Given the description of an element on the screen output the (x, y) to click on. 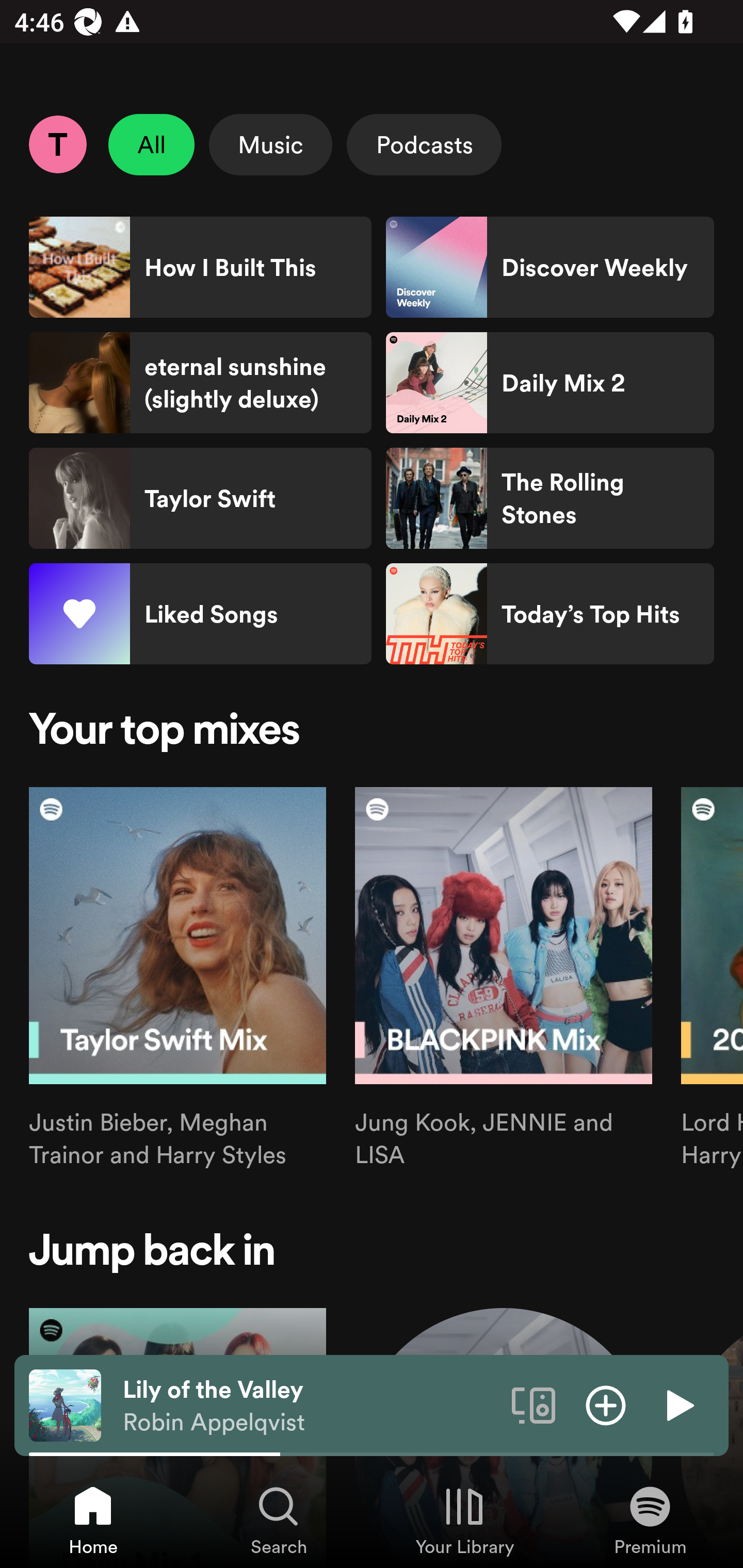
Profile (57, 144)
All Unselect All (151, 144)
Music Select Music (270, 144)
Podcasts Select Podcasts (423, 144)
How I Built This  Shortcut How I Built This  (199, 267)
Discover Weekly Shortcut Discover Weekly (549, 267)
Daily Mix 2 Shortcut Daily Mix 2 (549, 382)
Taylor Swift Shortcut Taylor Swift (199, 498)
The Rolling Stones Shortcut The Rolling Stones (549, 498)
Liked Songs Shortcut Liked Songs (199, 613)
Today’s Top Hits Shortcut Today’s Top Hits (549, 613)
Lily of the Valley Robin Appelqvist (309, 1405)
The cover art of the currently playing track (64, 1404)
Connect to a device. Opens the devices menu (533, 1404)
Add item (605, 1404)
Play (677, 1404)
Home, Tab 1 of 4 Home Home (92, 1519)
Search, Tab 2 of 4 Search Search (278, 1519)
Your Library, Tab 3 of 4 Your Library Your Library (464, 1519)
Premium, Tab 4 of 4 Premium Premium (650, 1519)
